Given the description of an element on the screen output the (x, y) to click on. 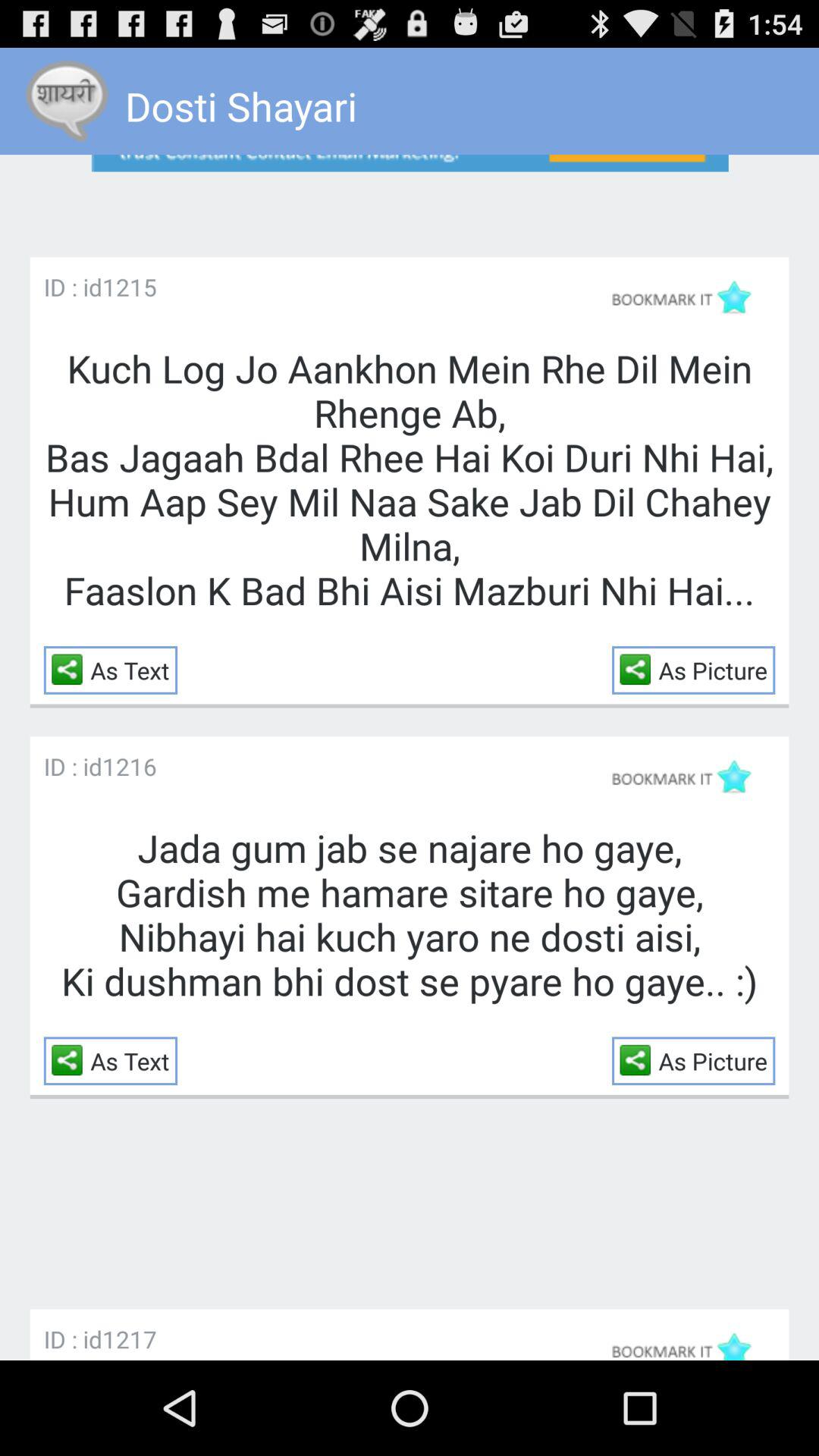
tap to bookmark (688, 1341)
